Given the description of an element on the screen output the (x, y) to click on. 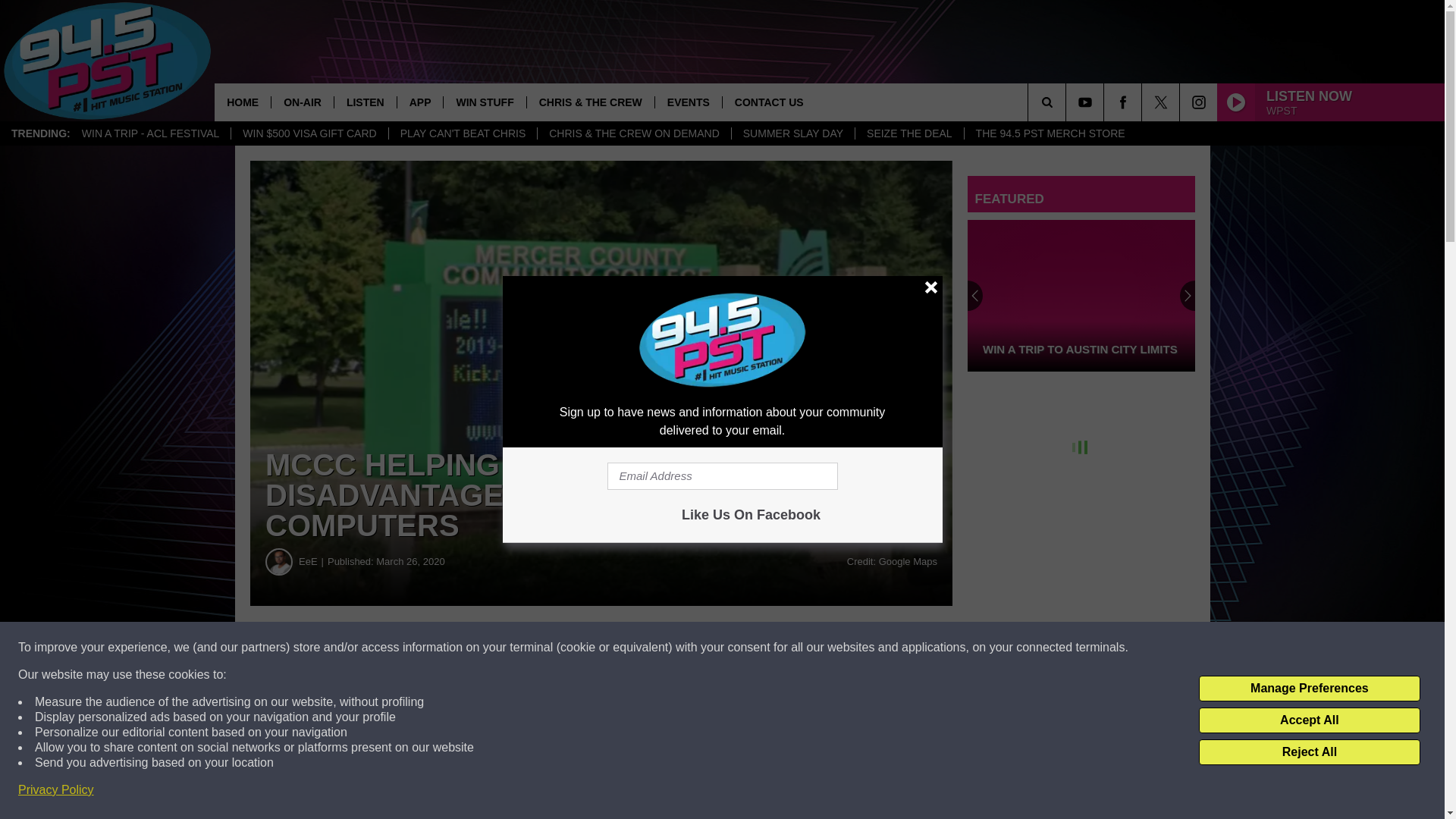
WIN A TRIP - ACL FESTIVAL (150, 133)
Manage Preferences (1309, 688)
APP (420, 102)
SEARCH (1068, 102)
Email Address (722, 475)
Print this page (787, 647)
Privacy Policy (55, 789)
PLAY CAN'T BEAT CHRIS (462, 133)
HOME (242, 102)
Reject All (1309, 751)
SUMMER SLAY DAY (792, 133)
SEIZE THE DEAL (908, 133)
Accept All (1309, 720)
SEARCH (1068, 102)
WIN STUFF (483, 102)
